Given the description of an element on the screen output the (x, y) to click on. 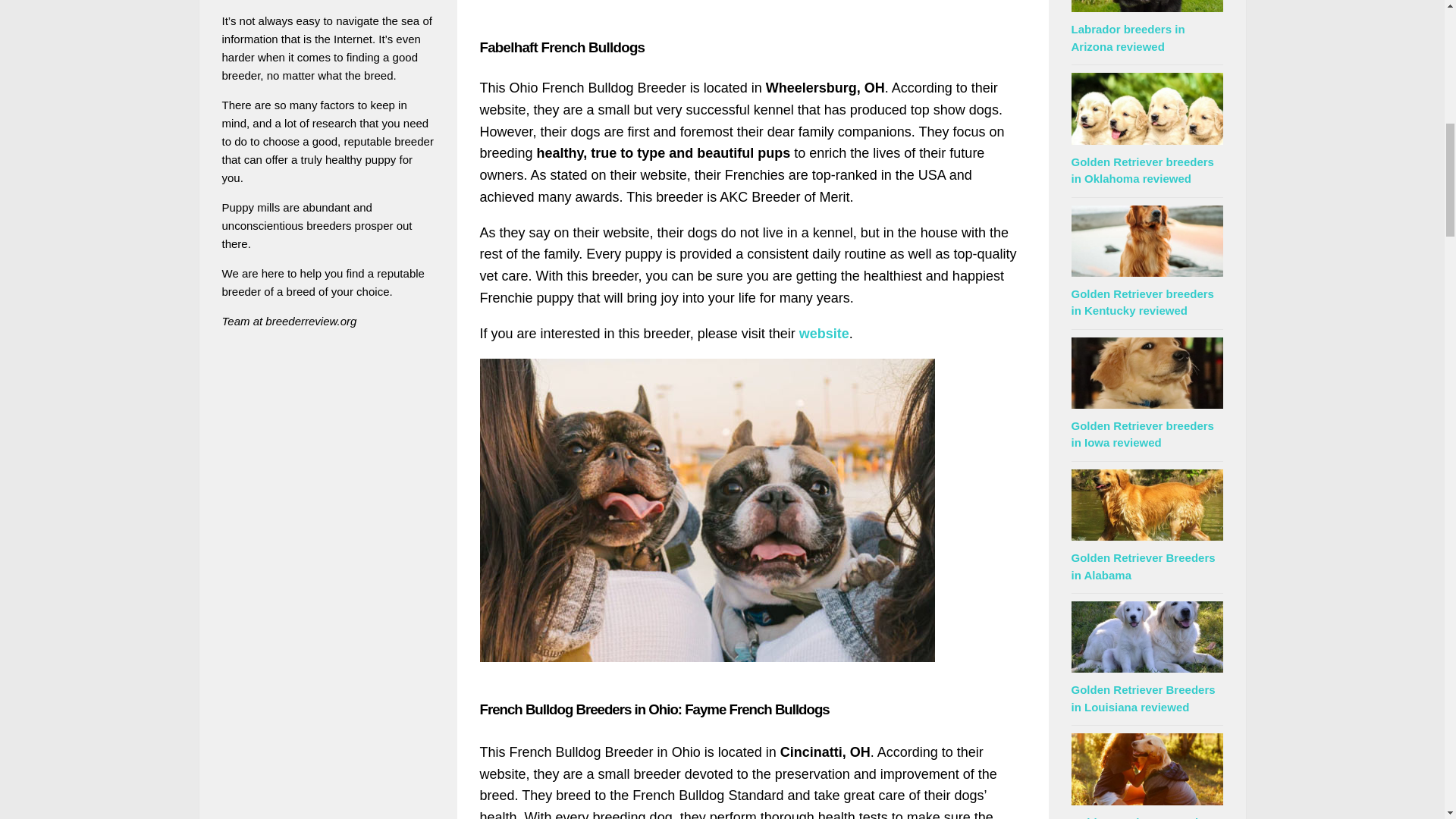
Permalink to Golden Retriever breeders in Oklahoma reviewed (1141, 170)
Permalink to Labrador breeders in Arizona reviewed (1127, 37)
